Given the description of an element on the screen output the (x, y) to click on. 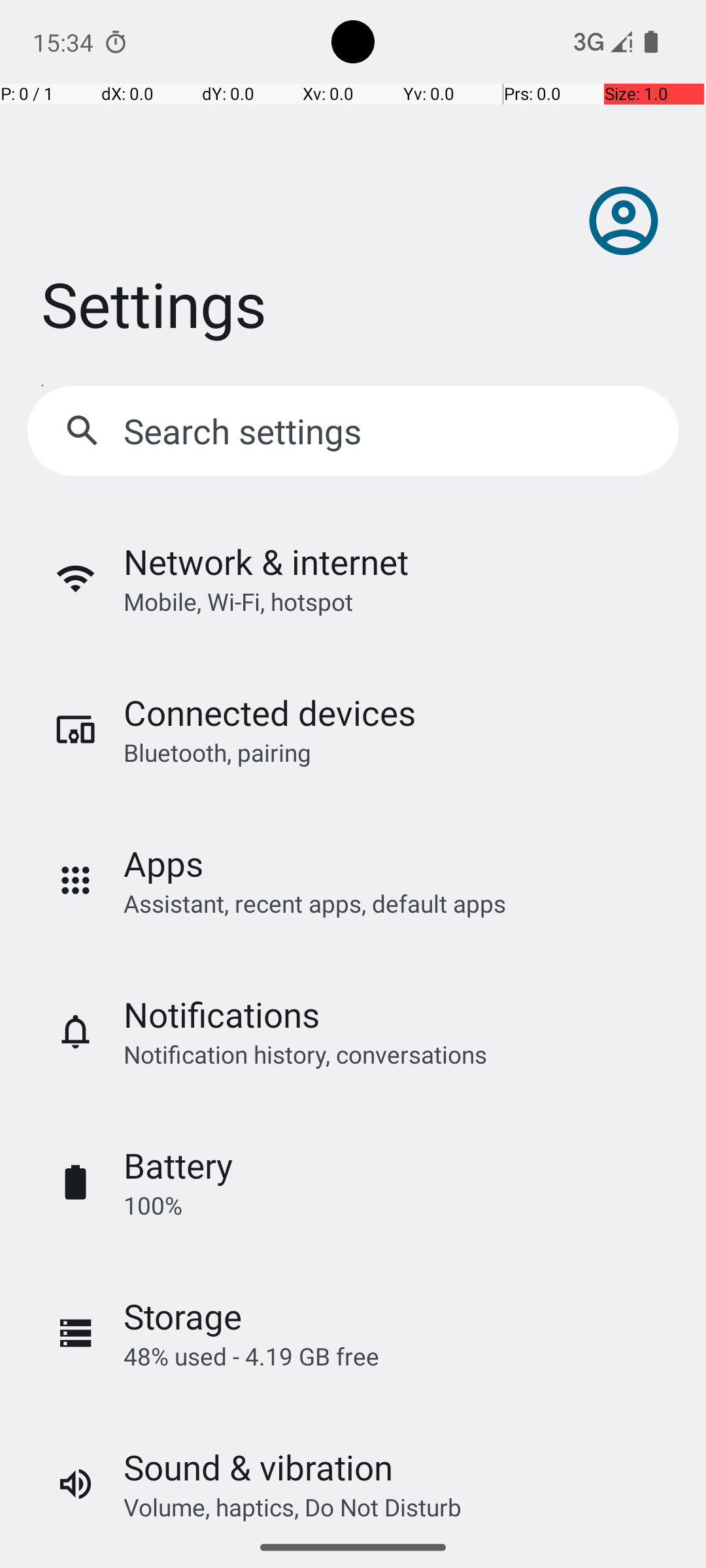
48% used - 4.19 GB free Element type: android.widget.TextView (251, 1355)
